Given the description of an element on the screen output the (x, y) to click on. 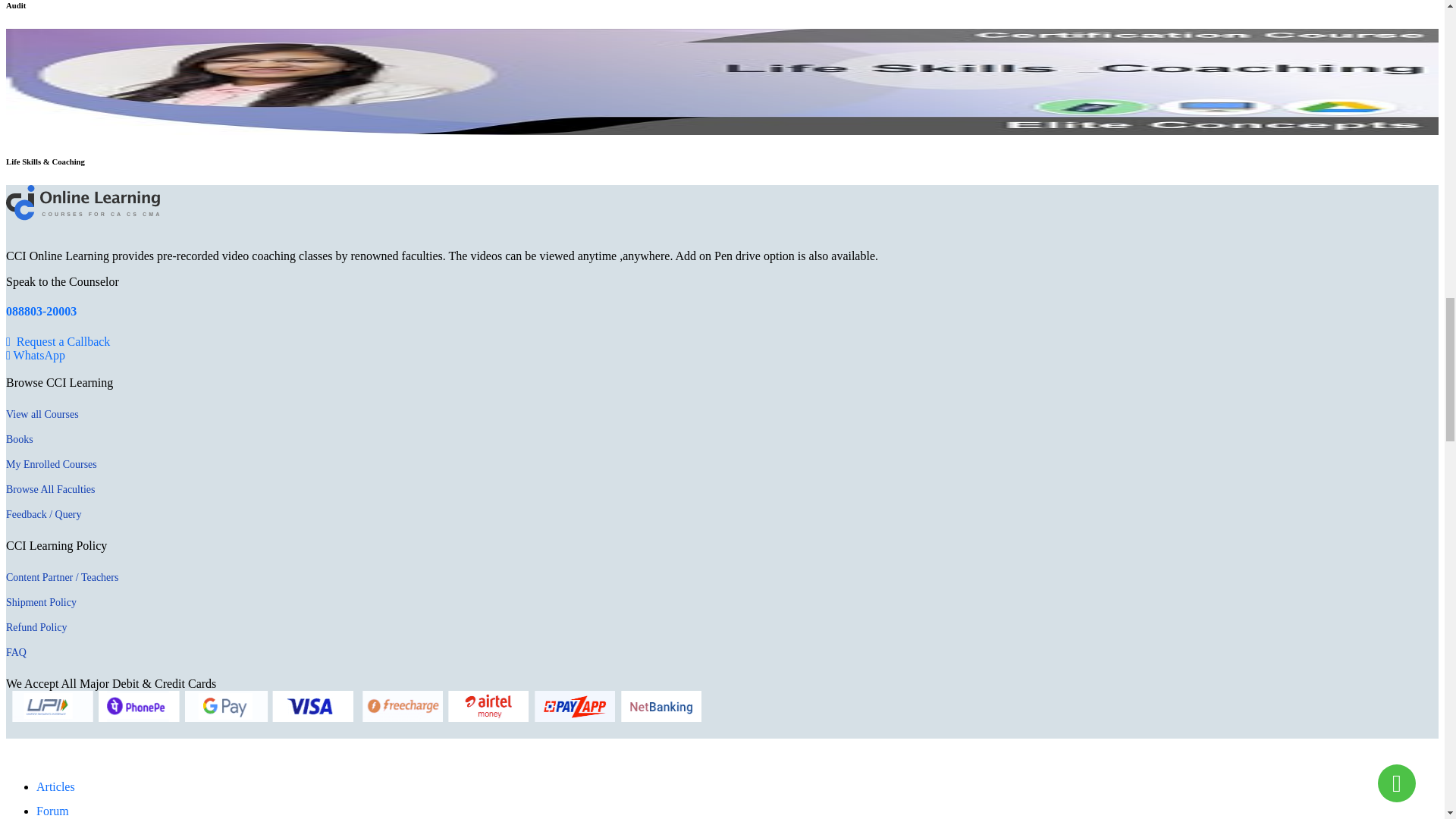
Whatsapp (35, 354)
